Given the description of an element on the screen output the (x, y) to click on. 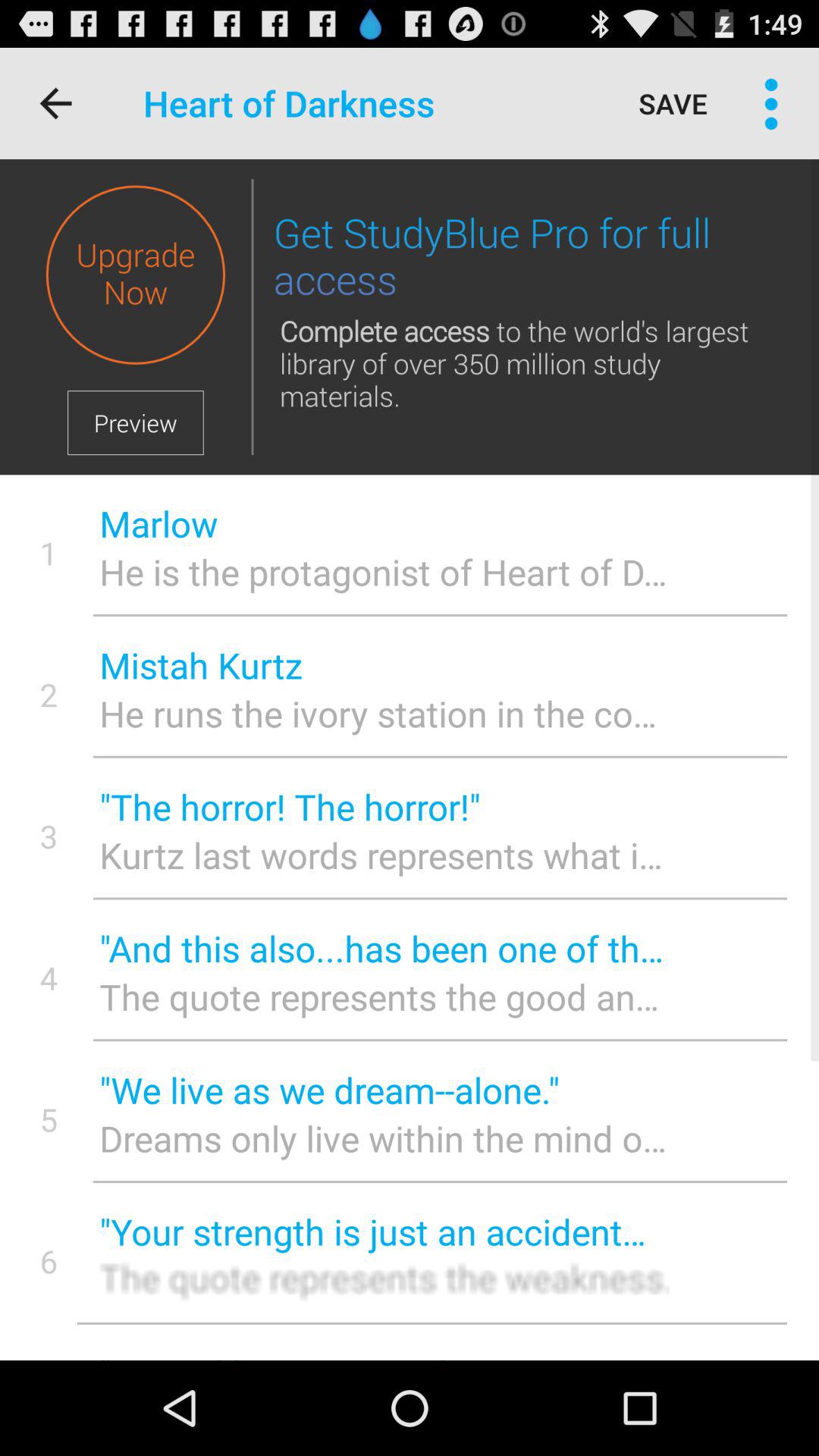
launch item next to the 2 icon (384, 664)
